Given the description of an element on the screen output the (x, y) to click on. 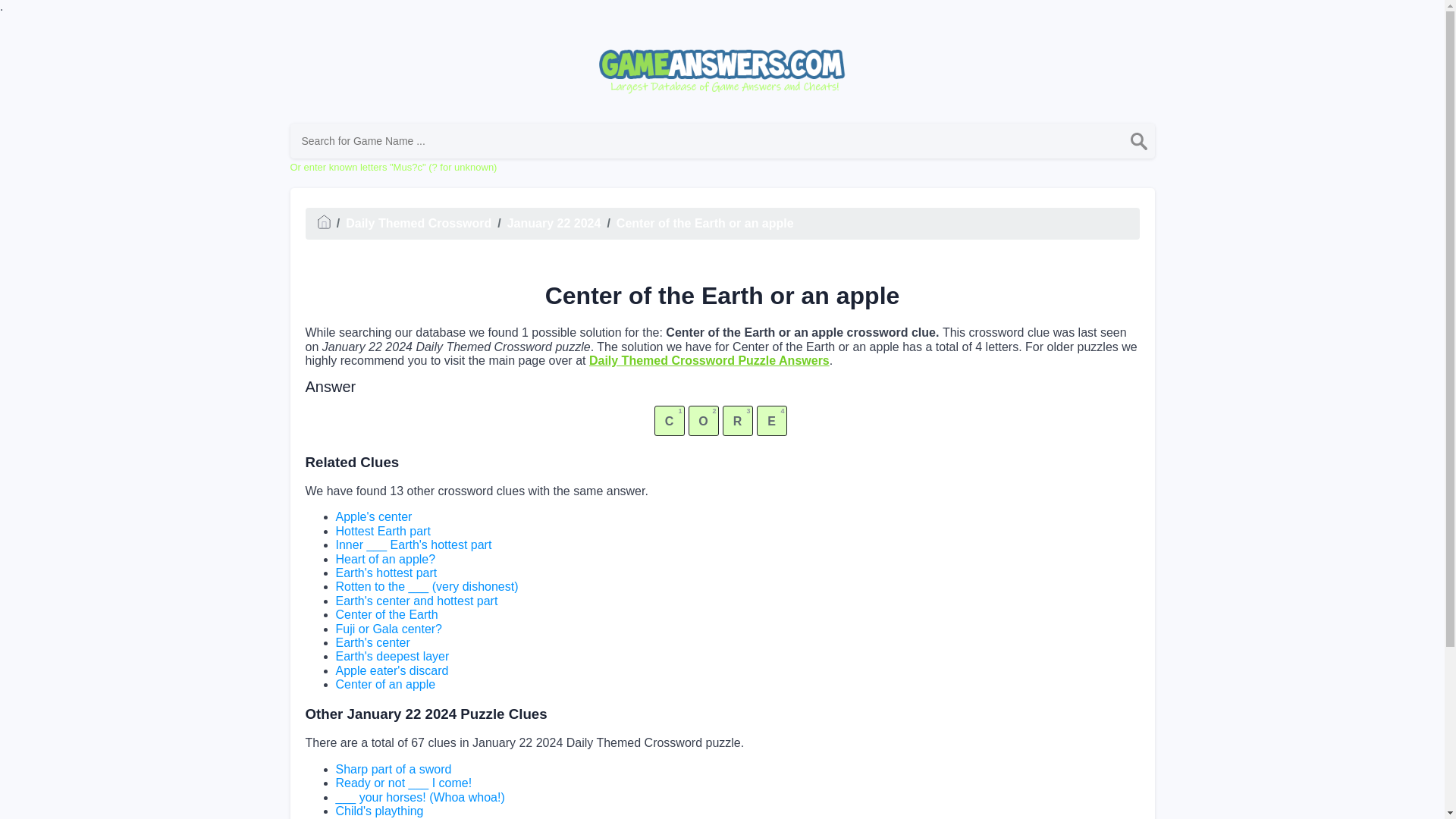
Center of an apple (384, 684)
Center of the Earth or an apple (704, 223)
Earth's hottest part (385, 572)
Earth's center and hottest part (415, 600)
Apple's center (373, 516)
Fuji or Gala center? (388, 628)
Apple eater's discard (391, 670)
Daily Themed Crossword (419, 223)
Child's plaything (378, 810)
